Given the description of an element on the screen output the (x, y) to click on. 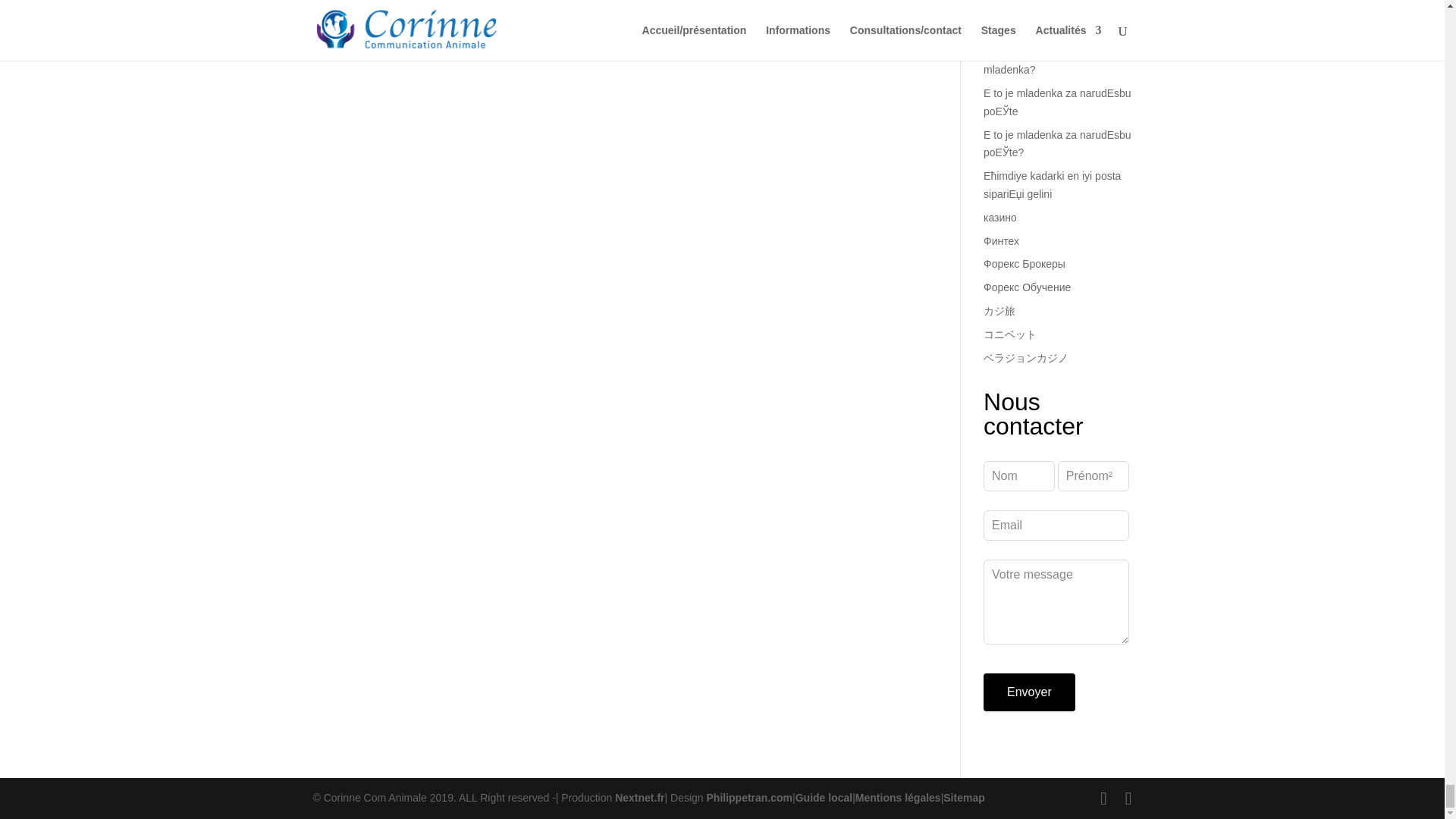
Envoyer (1029, 692)
